Given the description of an element on the screen output the (x, y) to click on. 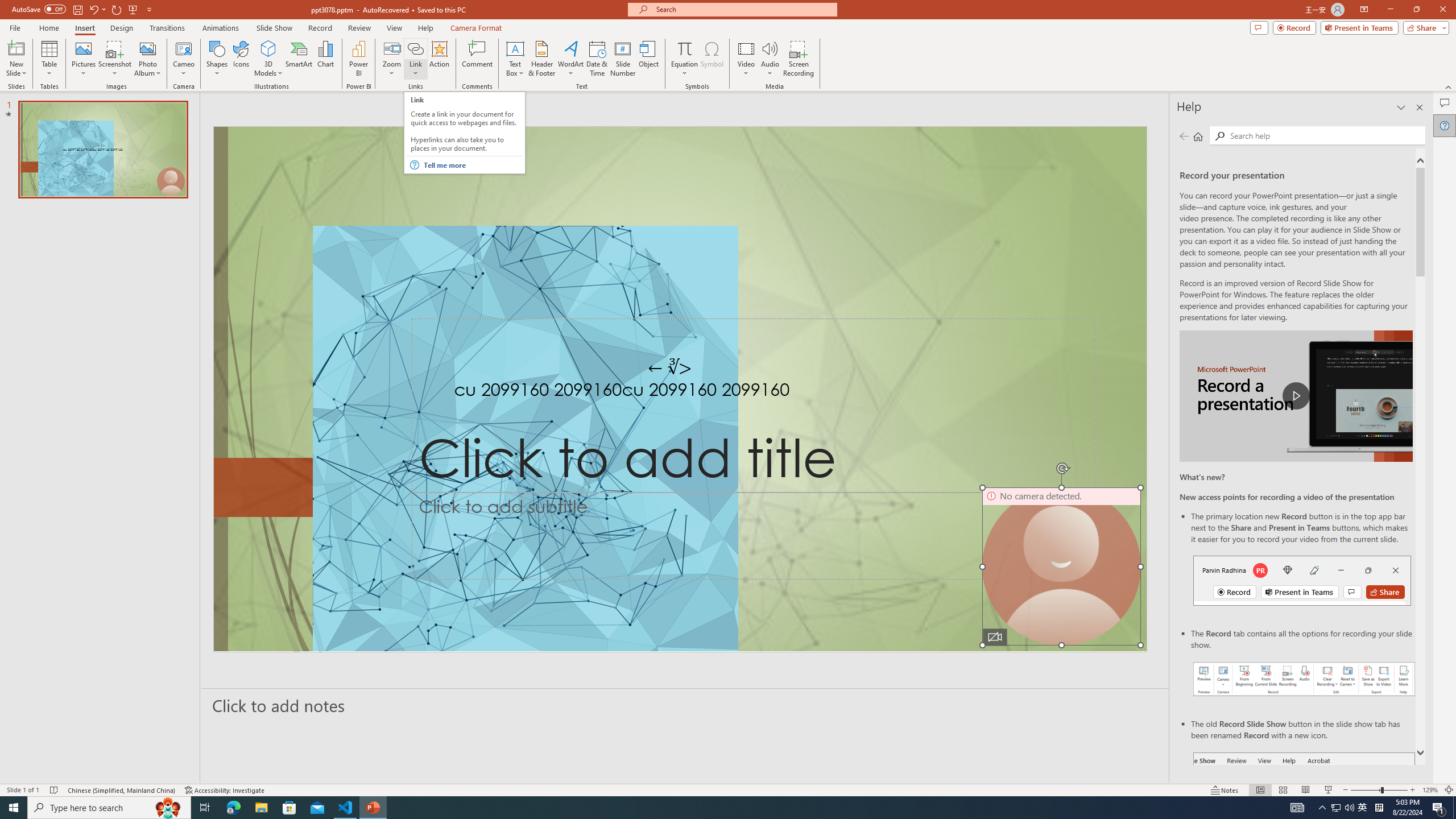
More Options (683, 68)
Zoom (1379, 790)
Object... (649, 58)
play Record a Presentation (1296, 395)
Date & Time... (596, 58)
Zoom 129% (1430, 790)
Action (439, 58)
Transitions (167, 28)
Undo (92, 9)
Slide Sorter (1282, 790)
New Slide (16, 48)
Zoom to Fit  (1449, 790)
Class: MsoCommandBar (728, 789)
Reading View (1305, 790)
Camera Format (475, 28)
